Given the description of an element on the screen output the (x, y) to click on. 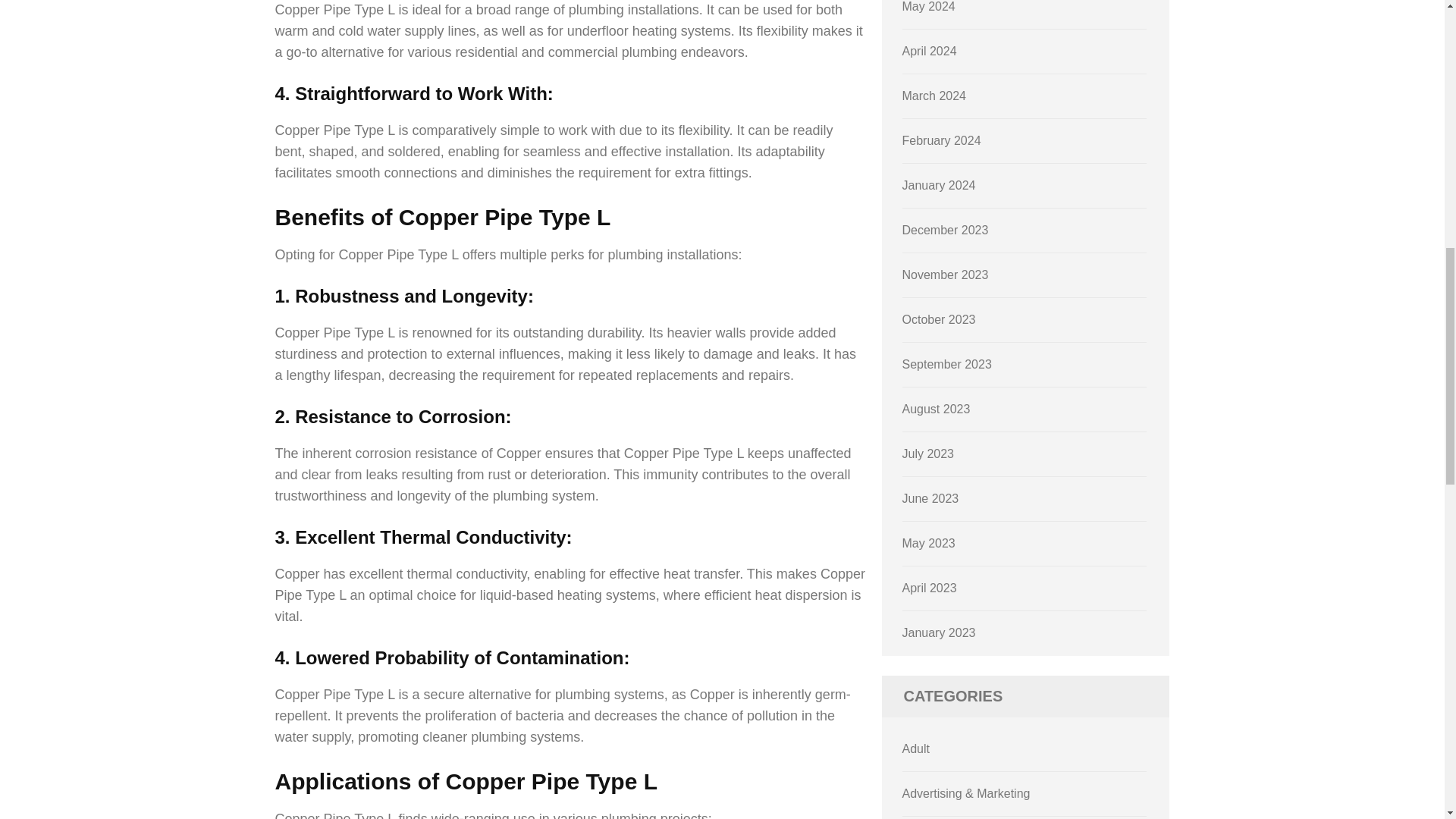
July 2023 (928, 453)
May 2024 (928, 6)
October 2023 (938, 318)
September 2023 (946, 364)
June 2023 (930, 498)
May 2023 (928, 543)
January 2023 (938, 632)
March 2024 (934, 95)
November 2023 (945, 274)
August 2023 (936, 408)
